Given the description of an element on the screen output the (x, y) to click on. 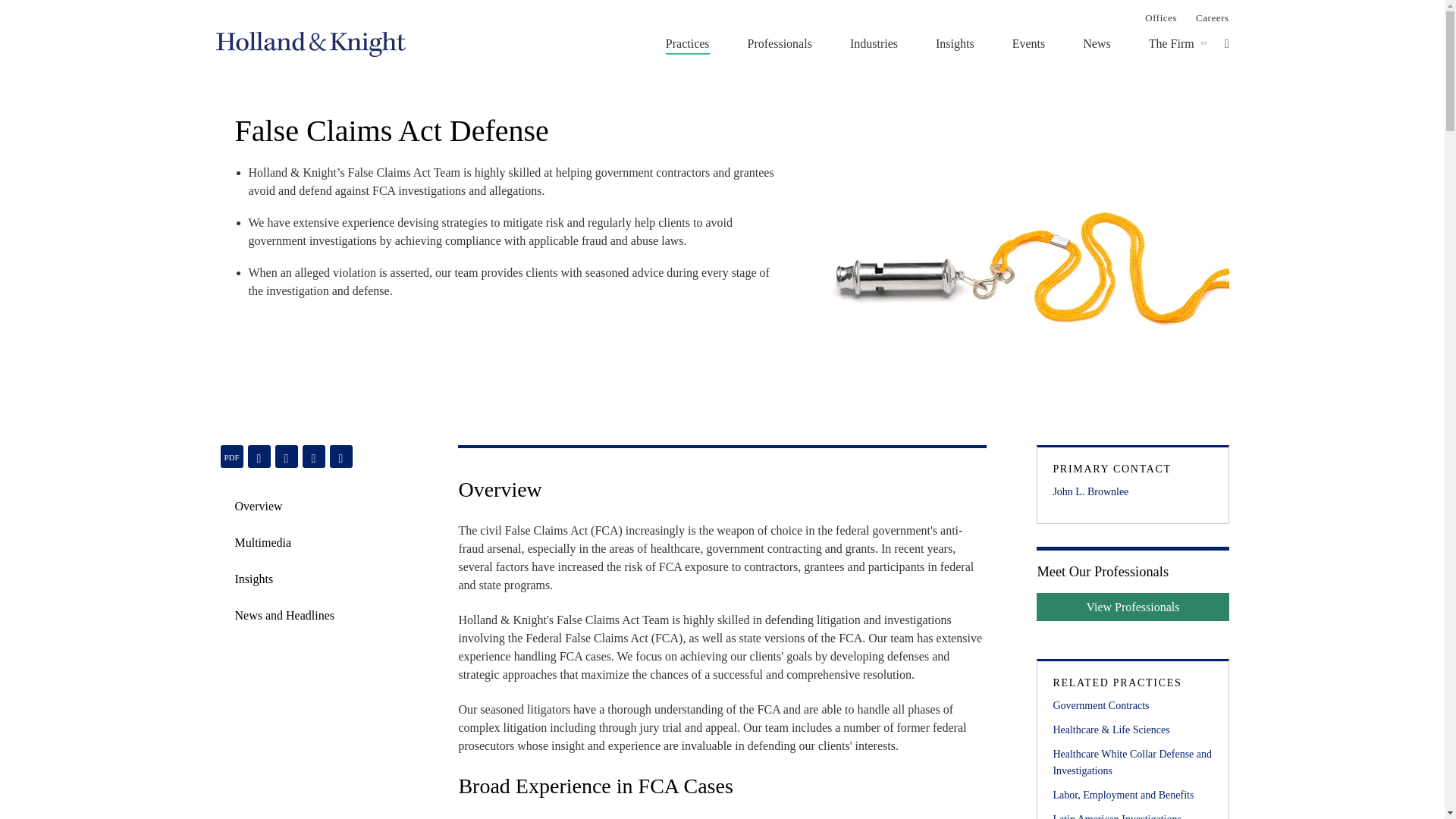
The Firm (1170, 43)
Insights (955, 42)
Multimedia (263, 542)
Professionals (780, 42)
News and Headlines (284, 615)
Careers (1211, 16)
News and Headlines (284, 615)
Industries (874, 42)
Insights (284, 578)
Overview (258, 506)
Overview (284, 506)
Offices (1160, 16)
Multimedia (284, 542)
Events (1028, 42)
News (1096, 42)
